Given the description of an element on the screen output the (x, y) to click on. 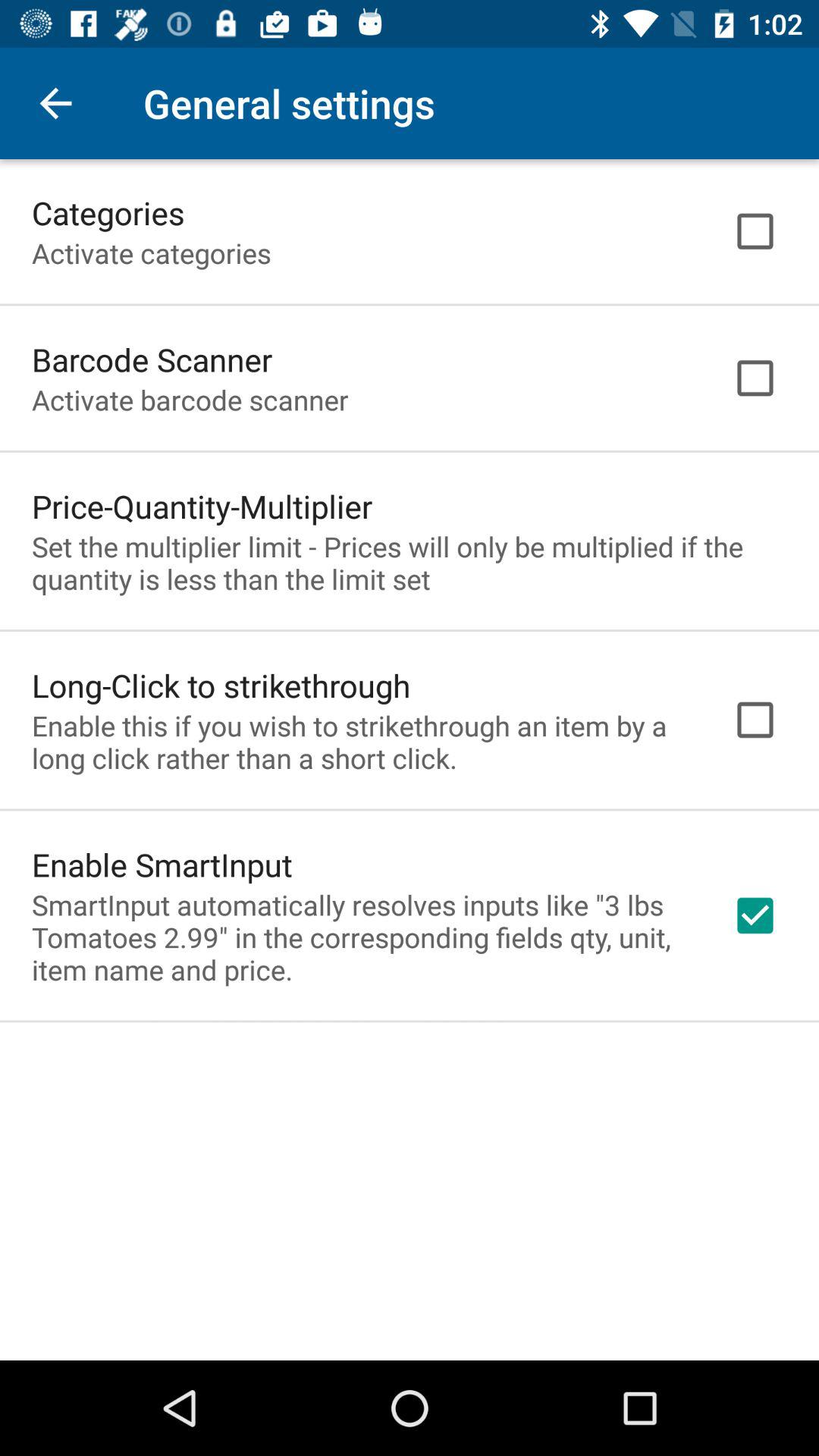
scroll to the activate categories icon (151, 252)
